Given the description of an element on the screen output the (x, y) to click on. 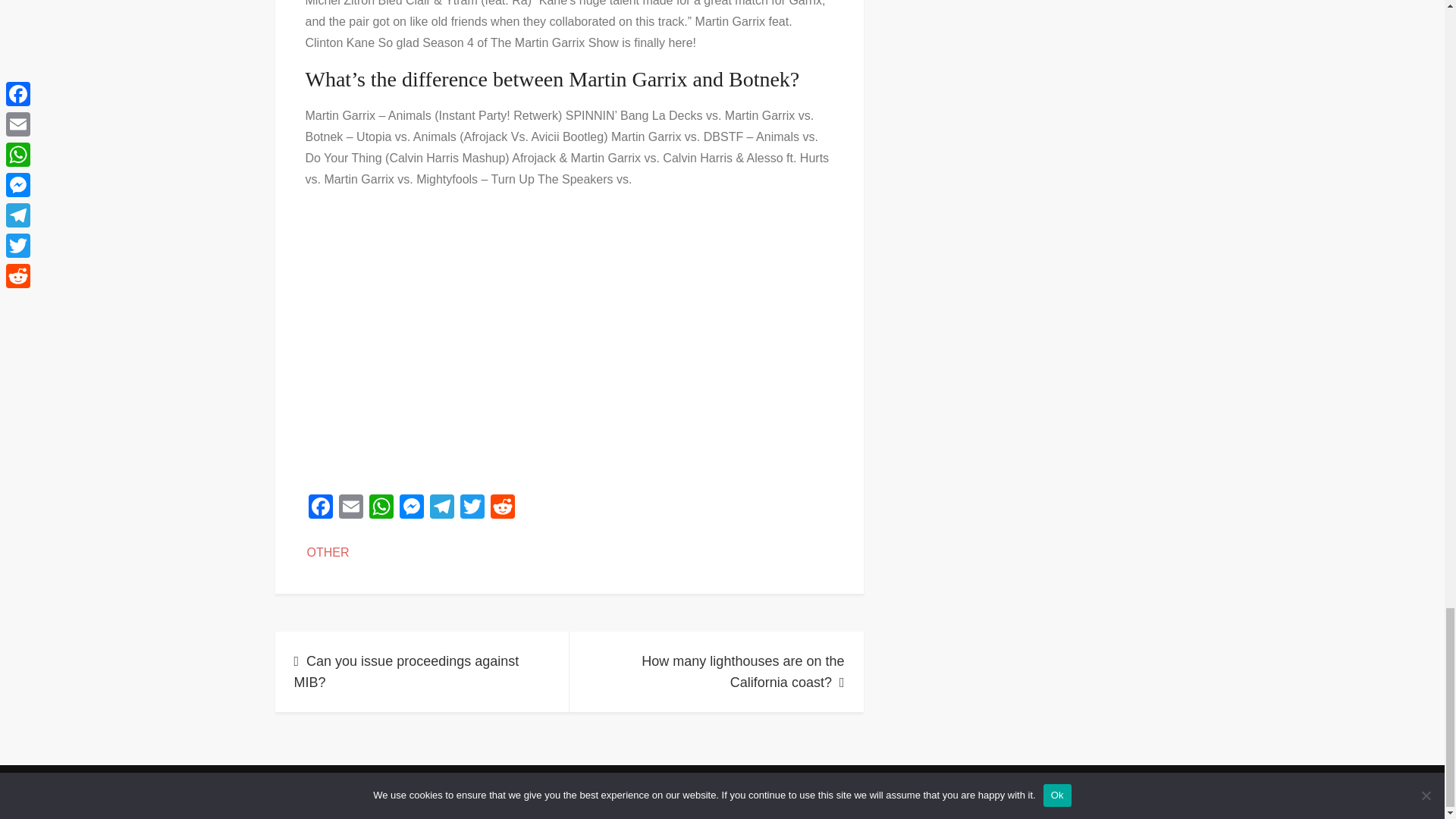
Twitter (471, 508)
Messenger (411, 508)
Email (349, 508)
OTHER (327, 552)
Messenger (411, 508)
Facebook (319, 508)
Email (349, 508)
WhatsApp (380, 508)
WhatsApp (380, 508)
Facebook (319, 508)
Twitter (471, 508)
Sensational Theme (858, 788)
Reddit (501, 508)
Can you issue proceedings against MIB? (422, 671)
Telegram (441, 508)
